Given the description of an element on the screen output the (x, y) to click on. 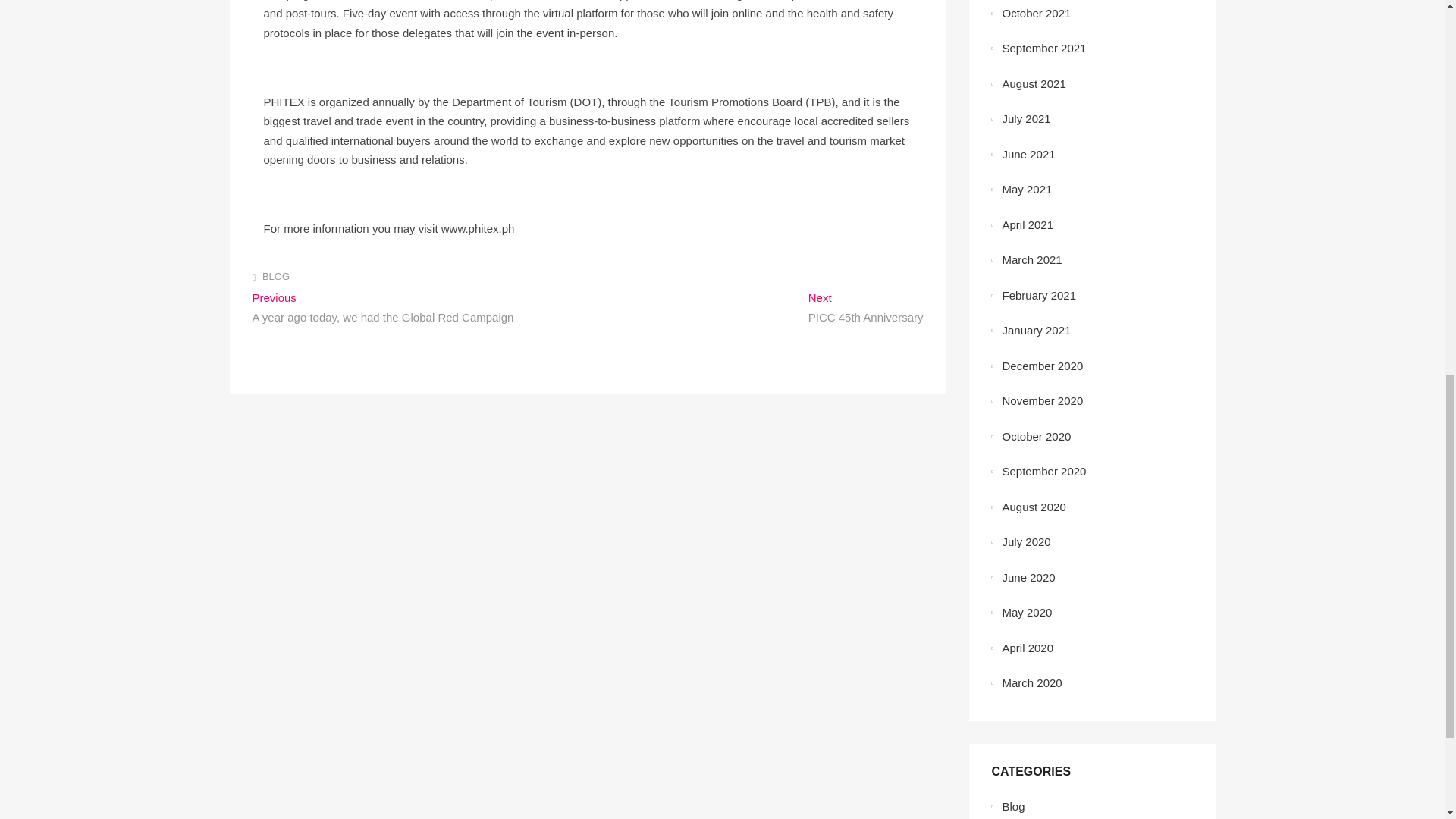
July 2021 (1027, 118)
September 2021 (1044, 47)
October 2021 (1037, 11)
August 2021 (865, 308)
BLOG (1034, 83)
